Given the description of an element on the screen output the (x, y) to click on. 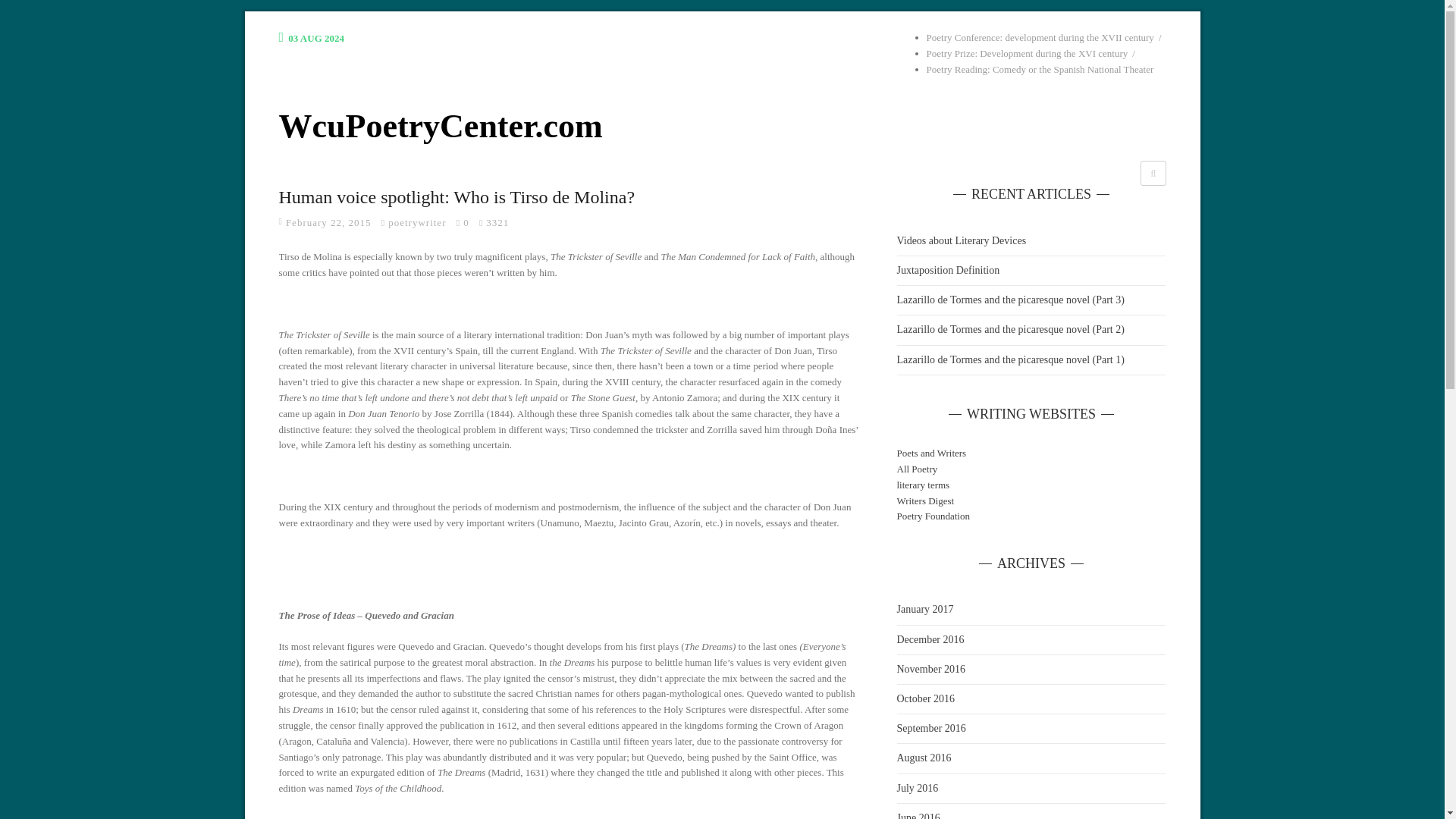
December 2016 (929, 639)
Poetry Foundation (932, 515)
October 2016 (925, 698)
Poetry Conference: development during the XVII century (1040, 37)
Human voice spotlight: Who is Tirso de Molina? (456, 197)
Juxtaposition Definition (1031, 270)
Writers Digest (924, 500)
All Poetry (916, 469)
November 2016 (930, 668)
January 2017 (924, 609)
0 (467, 222)
literary terms (922, 484)
Poetry Reading: Comedy or the Spanish National Theater (1040, 69)
Videos about Literary Devices (1031, 241)
poetrywriter (417, 222)
